Given the description of an element on the screen output the (x, y) to click on. 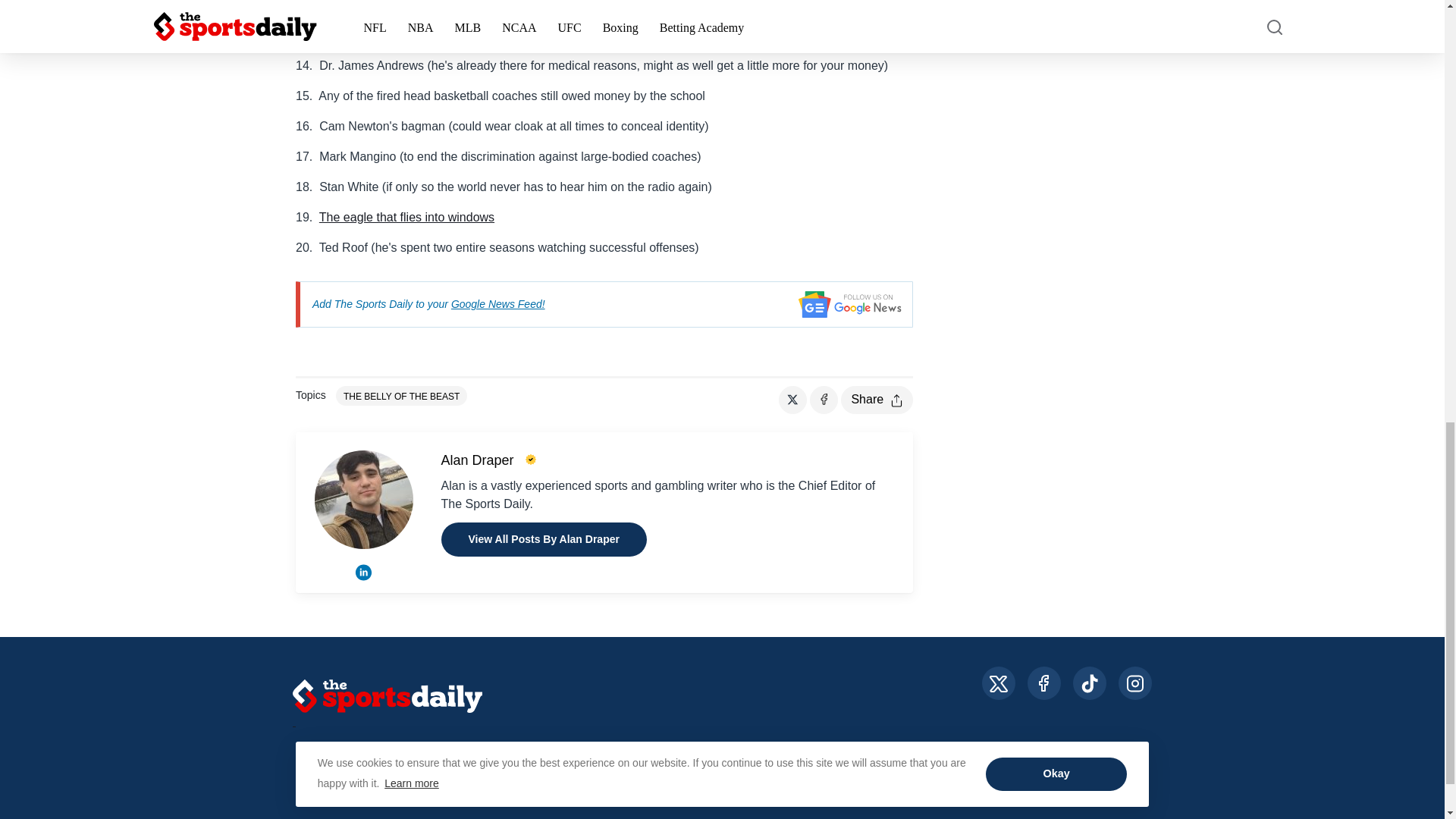
THE BELLY OF THE BEAST (401, 395)
The eagle that flies into windows (406, 216)
Share   (876, 399)
Google News Feed! (497, 304)
View All Posts By Alan Draper (543, 539)
